Given the description of an element on the screen output the (x, y) to click on. 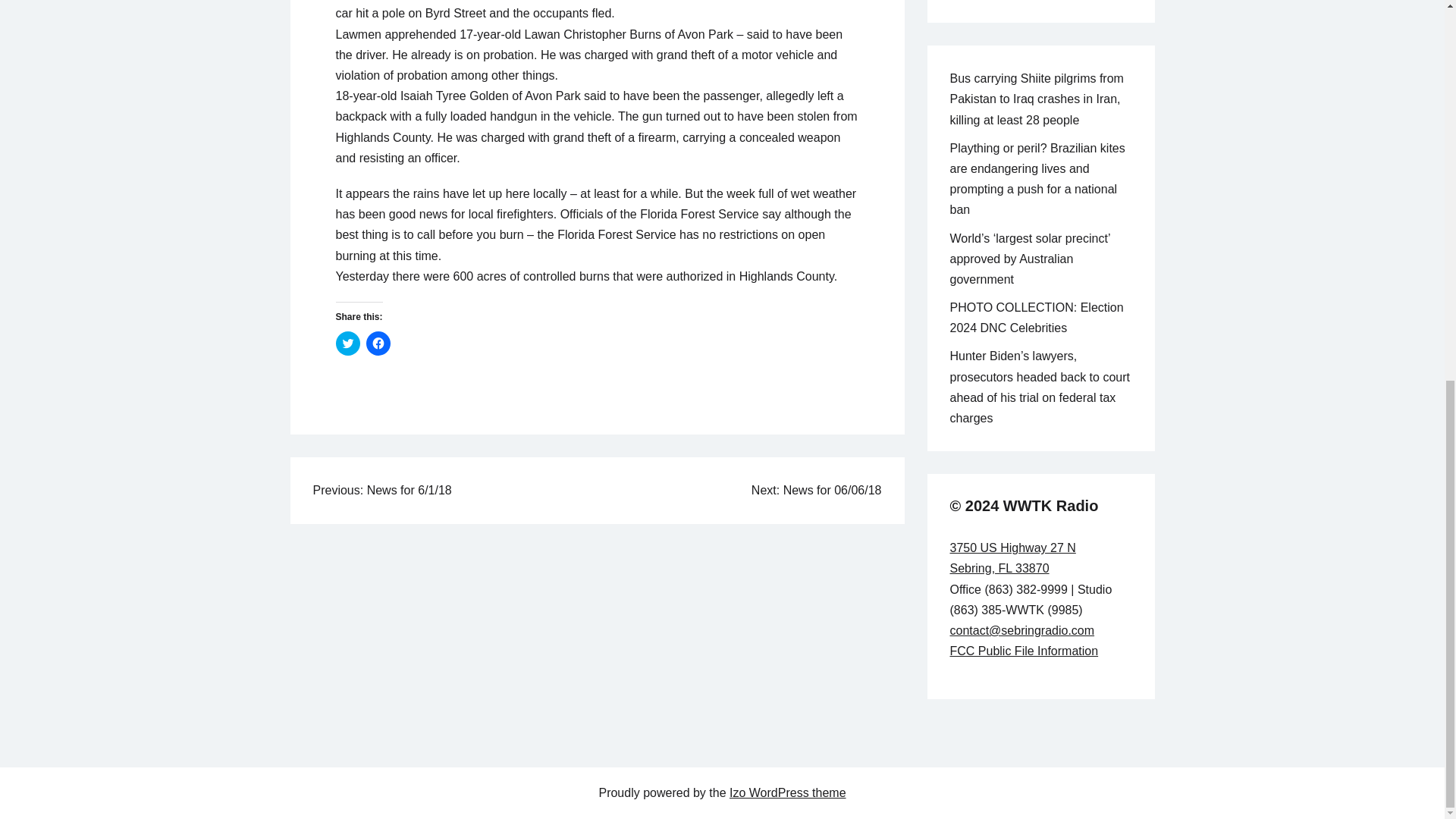
PHOTO COLLECTION: Election 2024 DNC Celebrities (1035, 317)
Click to share on Twitter (346, 343)
Click to share on Facebook (1012, 557)
